Given the description of an element on the screen output the (x, y) to click on. 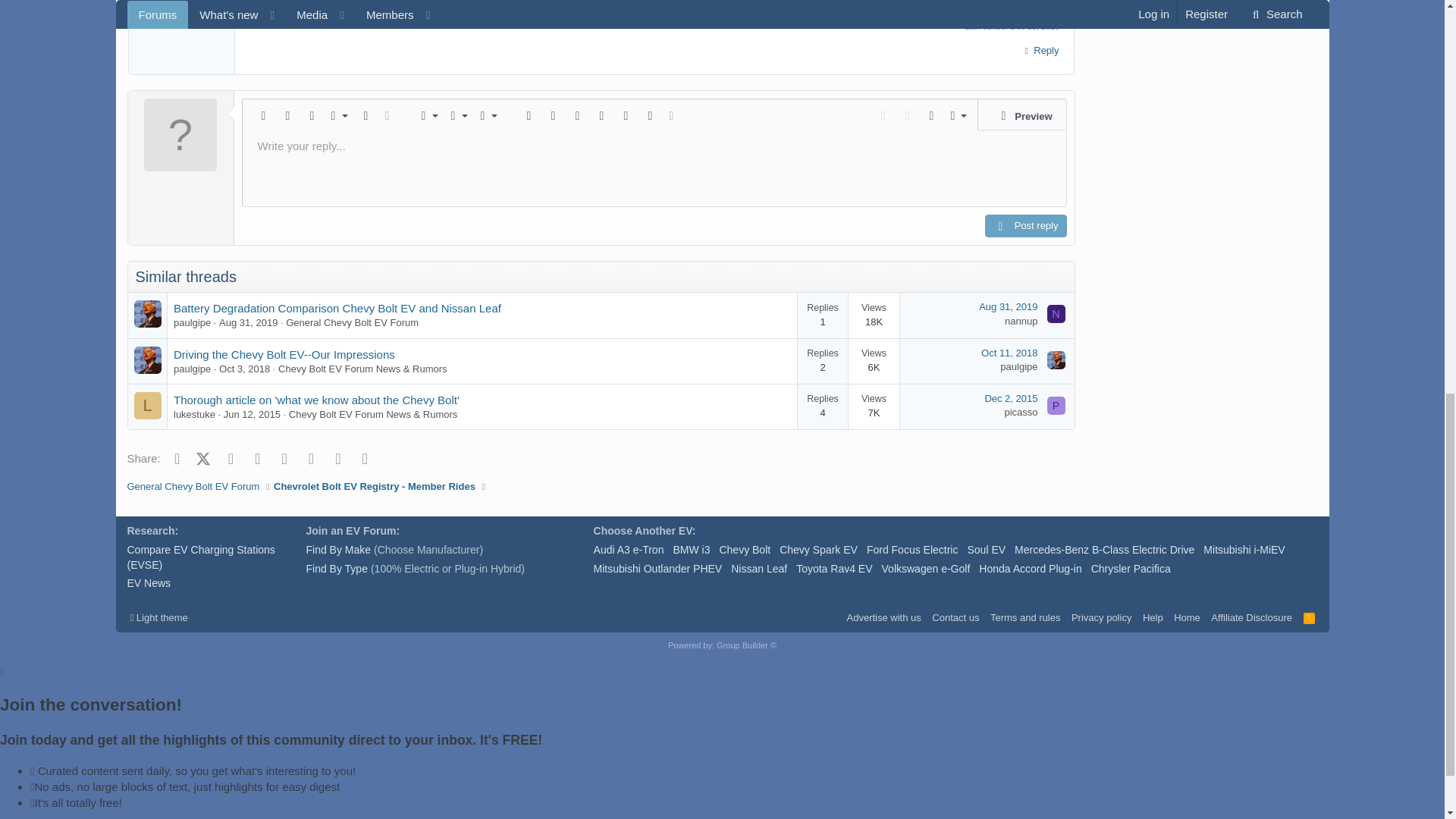
Reply, quoting this message (1039, 50)
Dec 21, 2023 at 5:08 PM (1034, 26)
Font size (335, 115)
Remove formatting (263, 115)
